Given the description of an element on the screen output the (x, y) to click on. 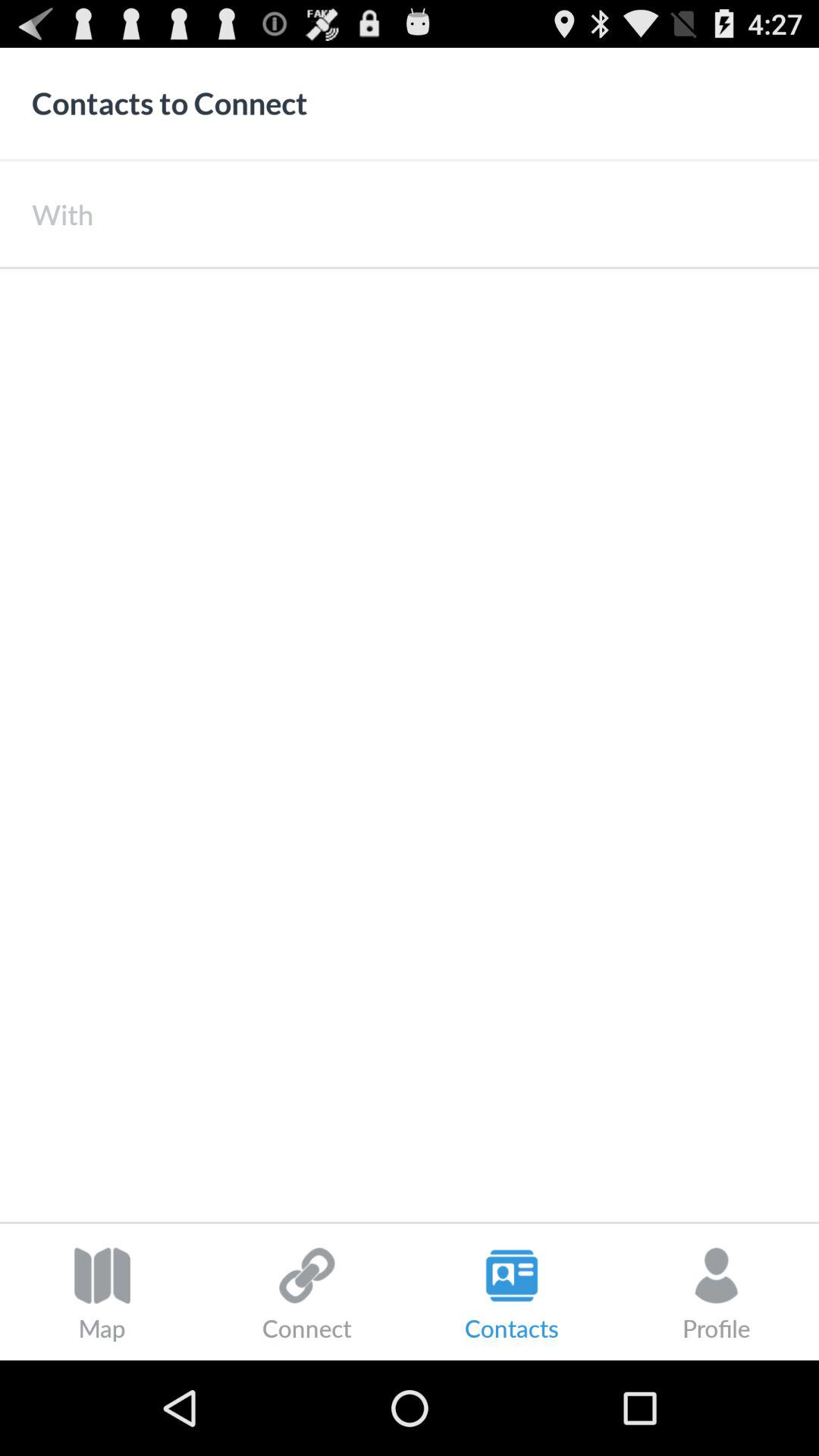
press the icon next to the with (456, 213)
